Given the description of an element on the screen output the (x, y) to click on. 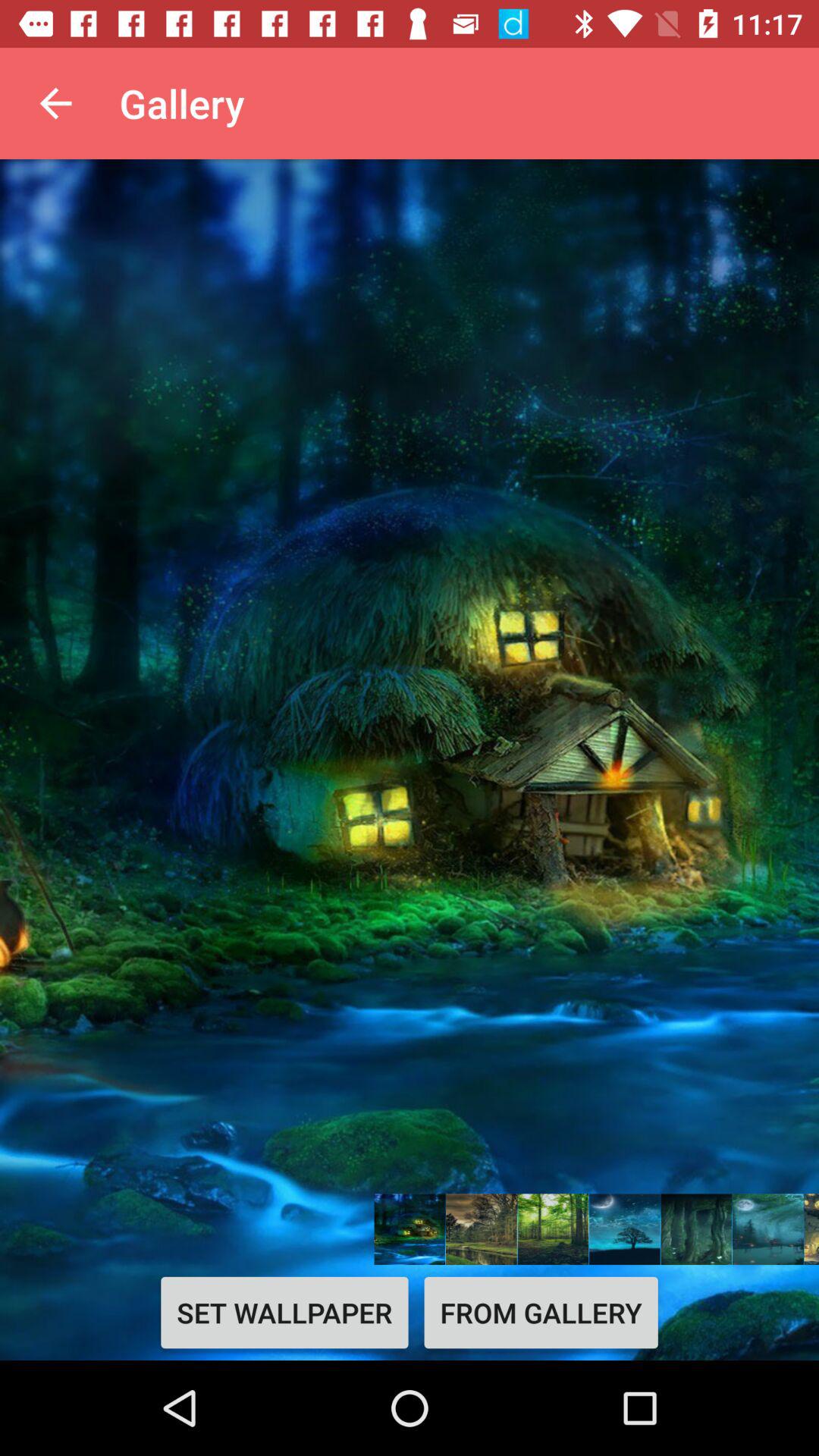
open the item to the left of gallery app (55, 103)
